Given the description of an element on the screen output the (x, y) to click on. 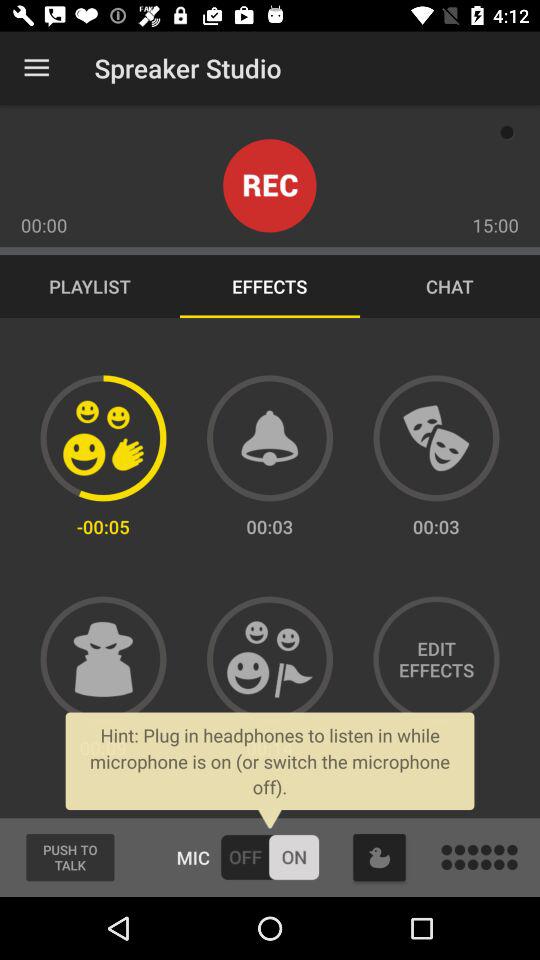
start recording (269, 185)
